Given the description of an element on the screen output the (x, y) to click on. 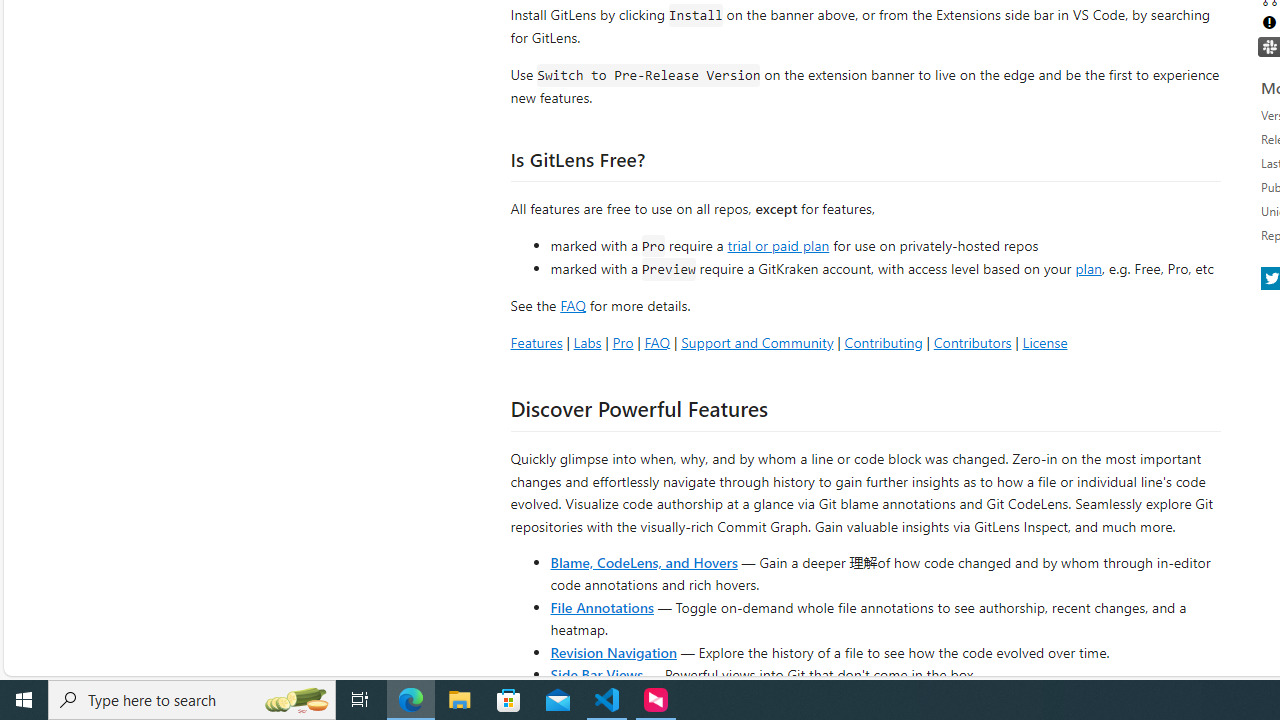
File Annotations (602, 606)
Contributing (882, 341)
Pro (622, 341)
plan (1088, 269)
Contributors (972, 341)
Support and Community (757, 341)
trial or paid plan (778, 244)
Blame, CodeLens, and Hovers (644, 561)
License (1044, 341)
Side Bar Views (596, 673)
